Given the description of an element on the screen output the (x, y) to click on. 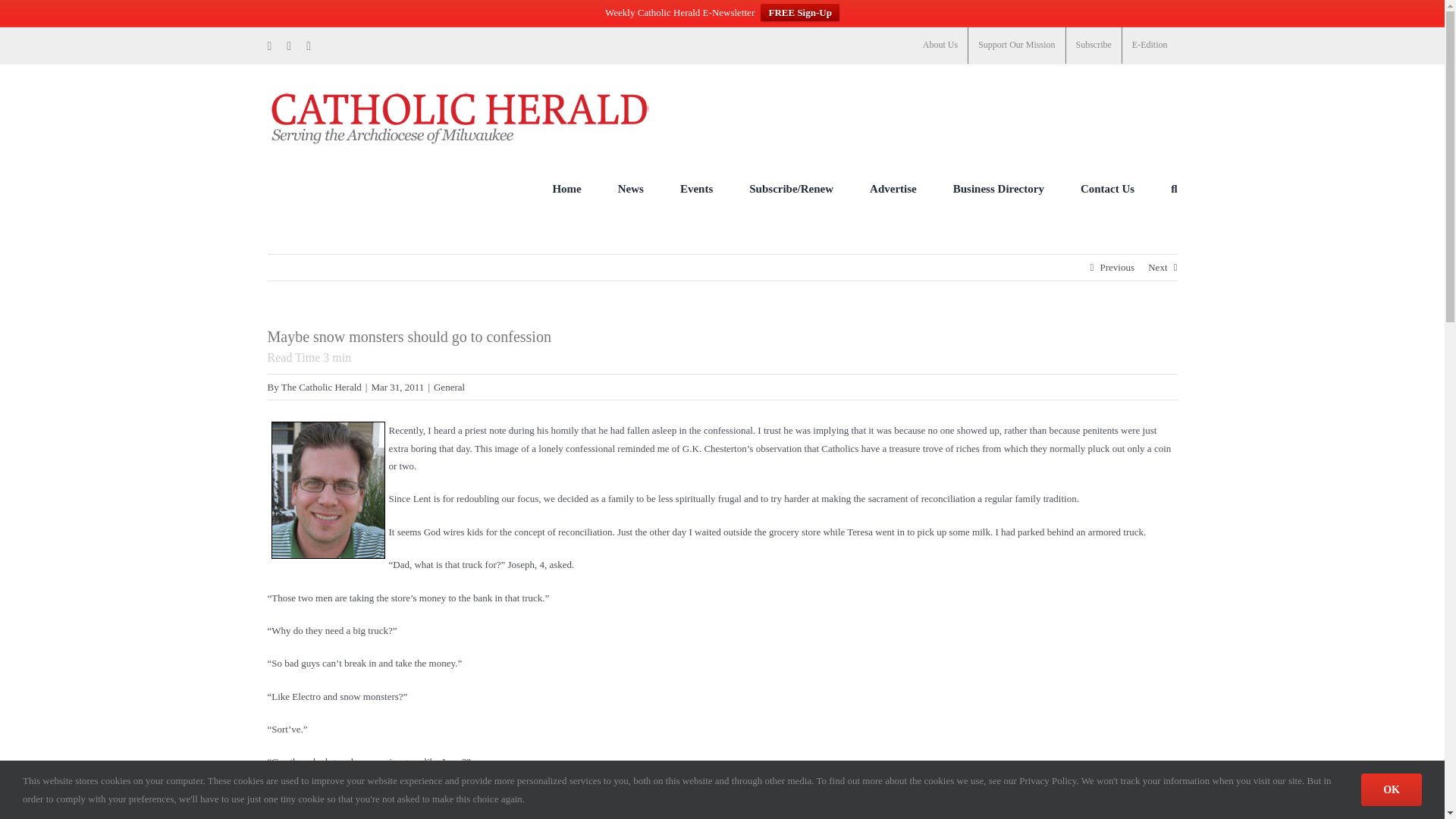
Posts by The Catholic Herald (321, 387)
E-Edition (1149, 45)
Business Directory (998, 188)
Advertise (893, 188)
Support Our Mission (1016, 45)
Subscribe (1093, 45)
FREE Sign-Up (799, 12)
Contact Us (1107, 188)
About Us (940, 45)
